Given the description of an element on the screen output the (x, y) to click on. 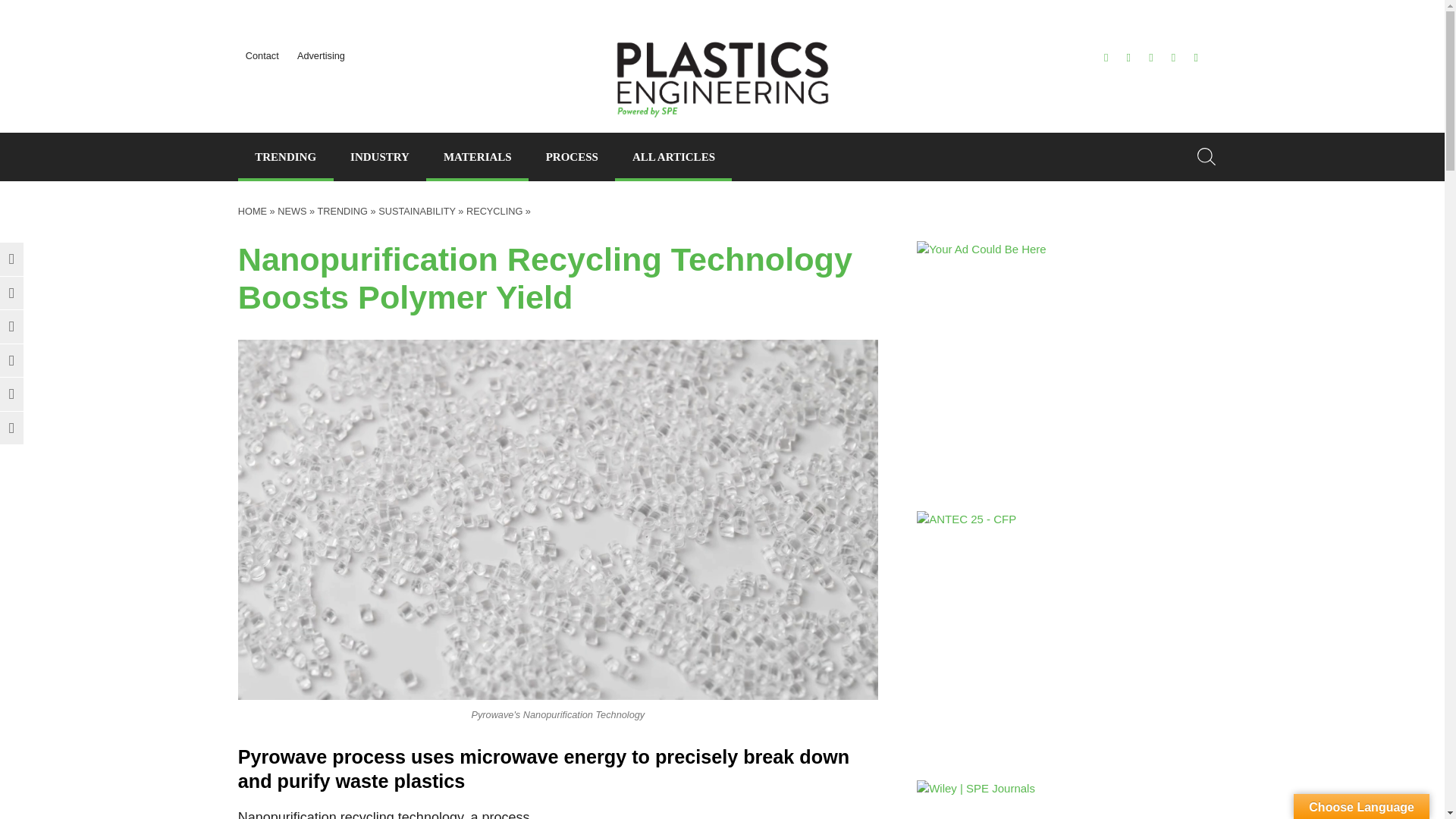
MATERIALS (477, 156)
Contact (262, 55)
Advertising (321, 55)
INDUSTRY (379, 156)
TRENDING (285, 156)
PROCESS (571, 156)
